Given the description of an element on the screen output the (x, y) to click on. 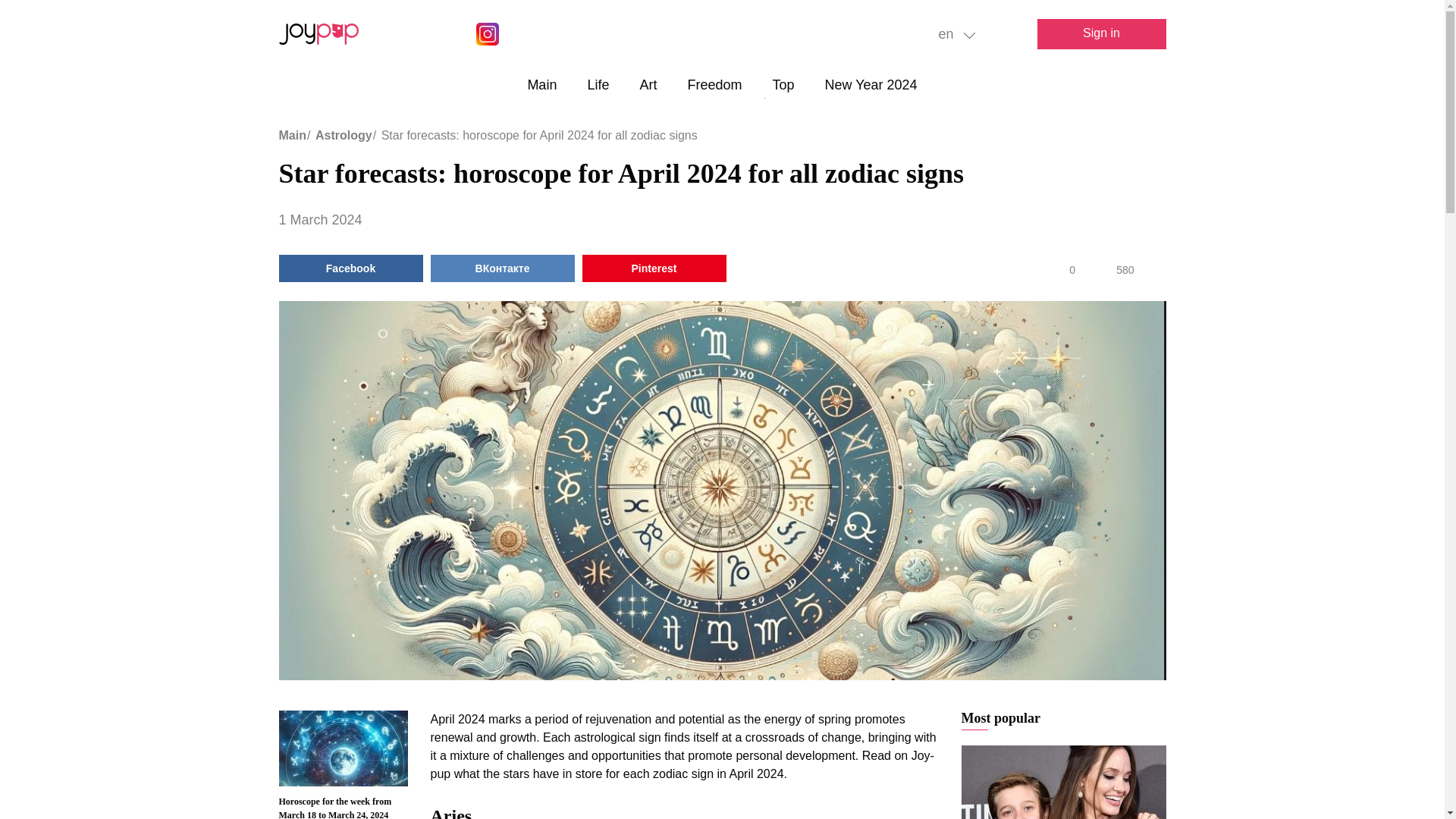
Main (541, 85)
Instagram (487, 33)
Yandex Zen (623, 33)
Sign in (1101, 33)
YouTube (441, 33)
Facebook (532, 33)
Pinterest (578, 33)
